Given the description of an element on the screen output the (x, y) to click on. 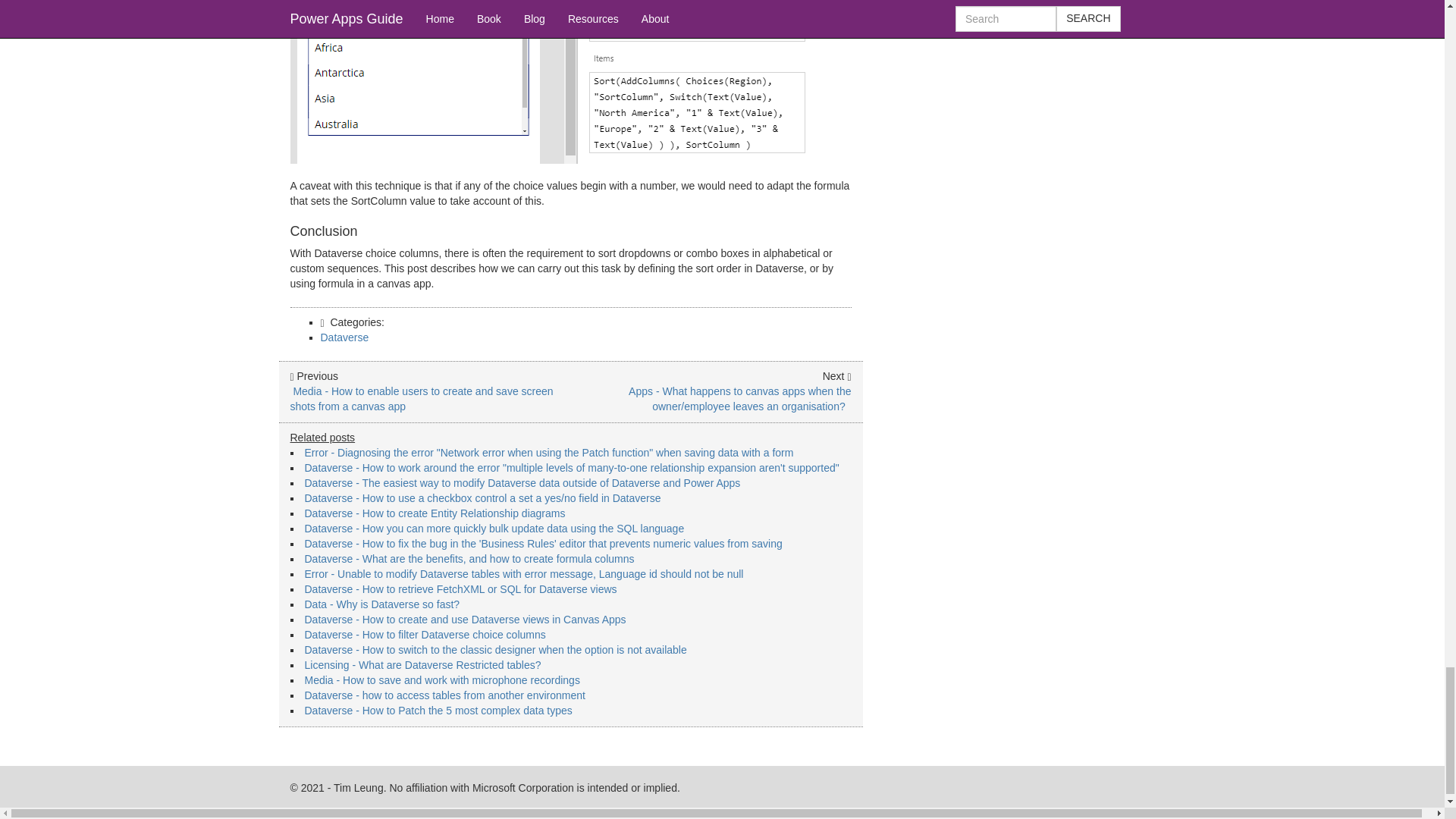
Dataverse - How to Patch the 5 most complex data types (438, 710)
Media - How to save and work with microphone recordings (441, 680)
Dataverse - How to filter Dataverse choice columns (425, 634)
Licensing - What are Dataverse Restricted tables? (422, 664)
